Given the description of an element on the screen output the (x, y) to click on. 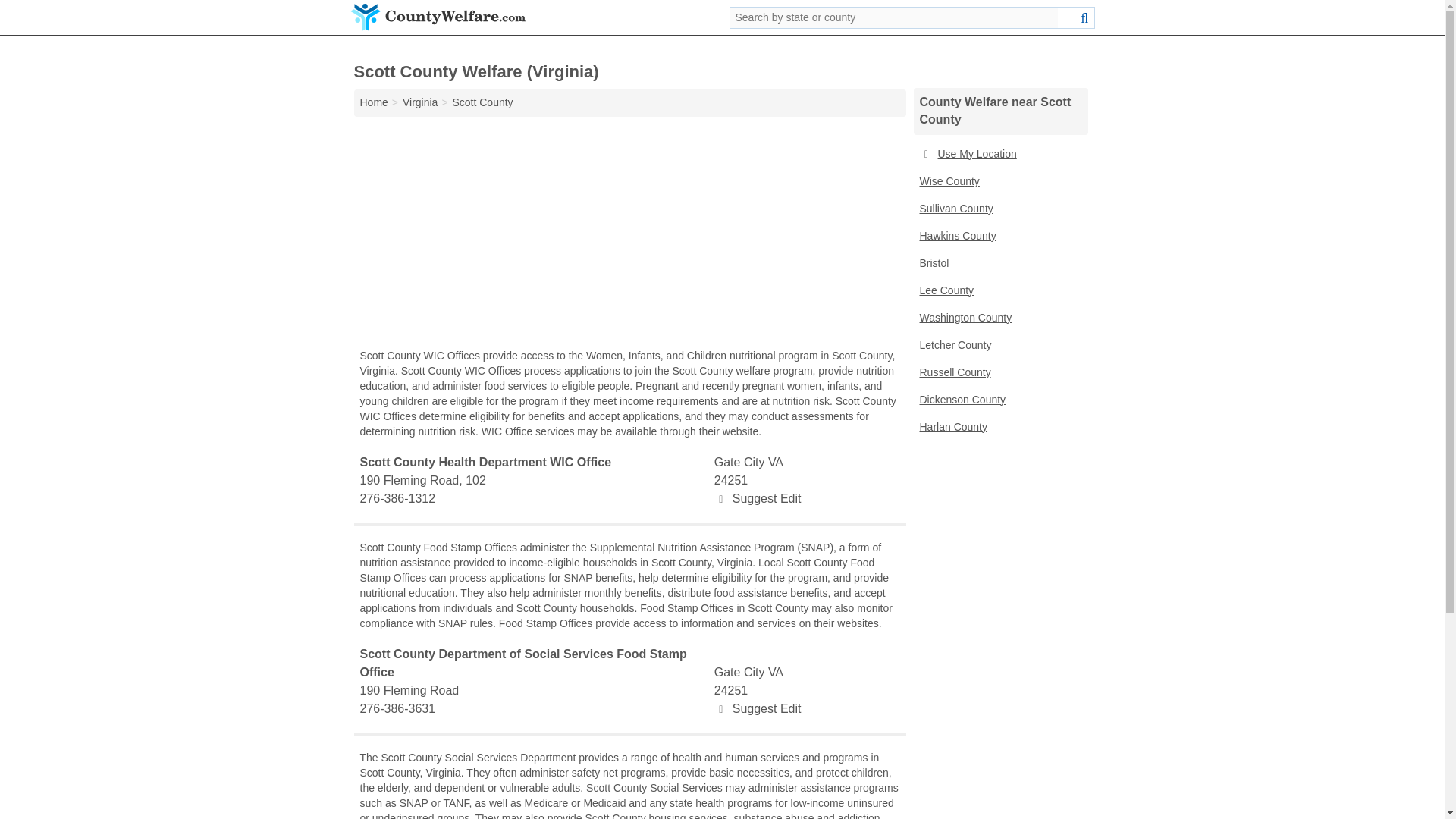
Wise County (999, 181)
County Welfare Near Me (999, 154)
Scott County (481, 102)
Suggest Edit (758, 707)
Lee County (999, 290)
Advertisement (629, 236)
Hawkins County (999, 236)
Russell County (999, 372)
Harlan County (999, 427)
Use My Location (999, 154)
Virginia (420, 102)
Letcher County (999, 345)
Dickenson County (999, 400)
Sullivan County (999, 208)
Home (373, 102)
